Given the description of an element on the screen output the (x, y) to click on. 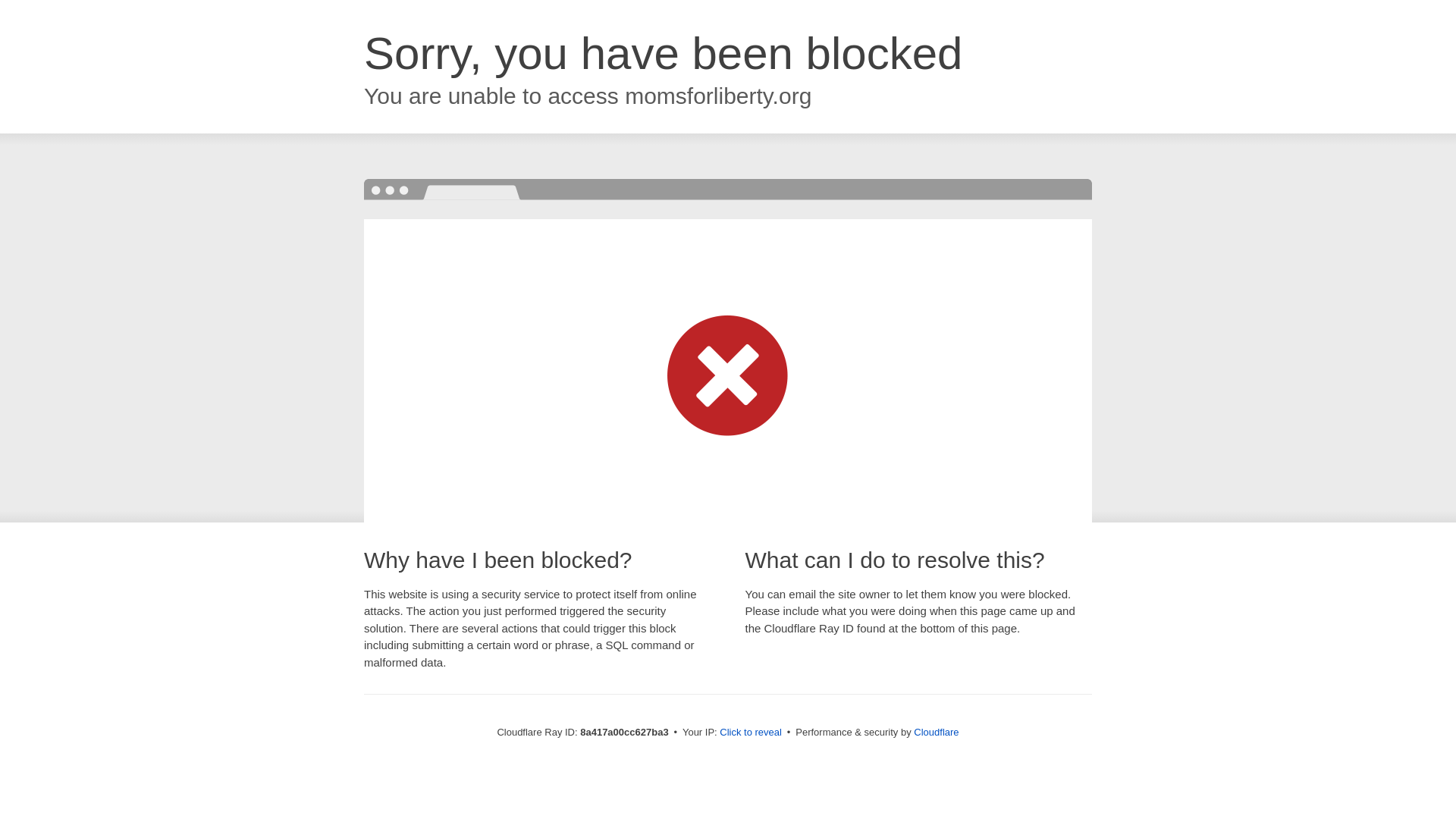
Click to reveal (750, 732)
Cloudflare (936, 731)
